Given the description of an element on the screen output the (x, y) to click on. 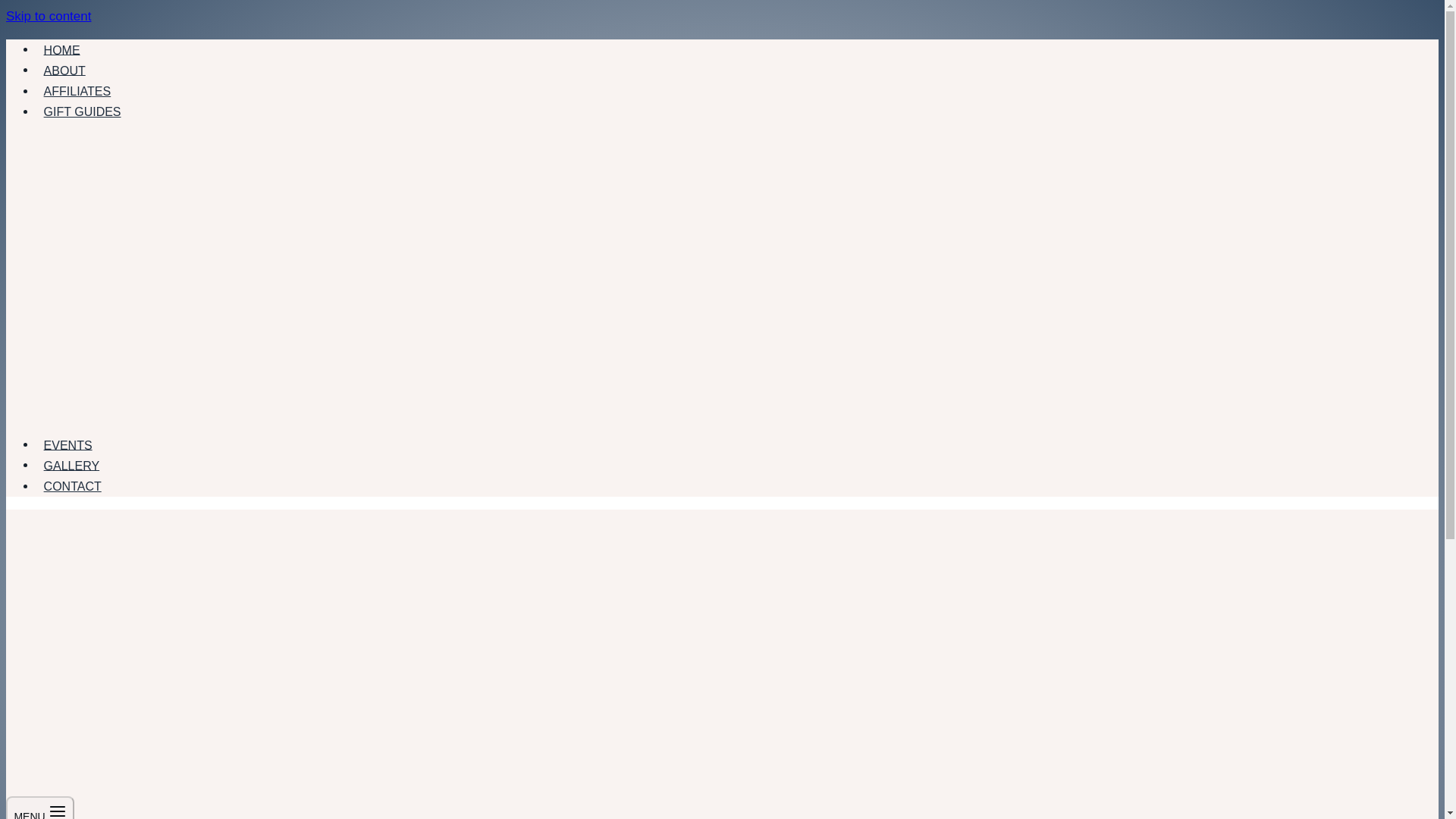
GALLERY (71, 465)
ABOUT (64, 70)
CONTACT (71, 485)
MENU Toggle Menu (39, 807)
GIFT GUIDES (82, 111)
AFFILIATES (76, 90)
Skip to content (47, 16)
HOME (61, 49)
Toggle Menu (57, 810)
Skip to content (47, 16)
EVENTS (67, 444)
